Given the description of an element on the screen output the (x, y) to click on. 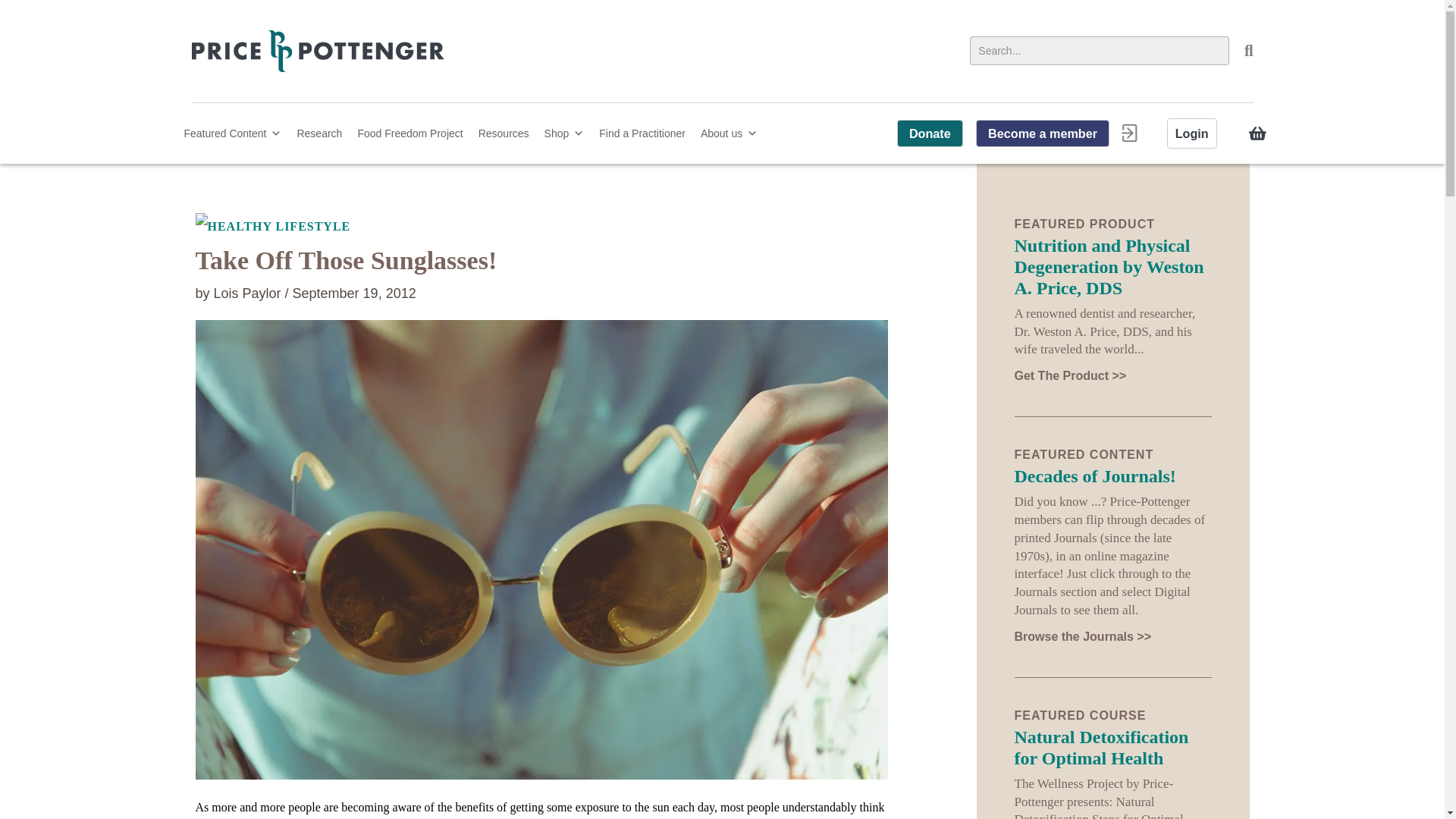
Research (318, 132)
Resources (503, 132)
About us (729, 132)
Login (1192, 132)
Featured Content (232, 132)
cartLogo (1257, 133)
HEALTHY LIFESTYLE (541, 226)
ppLogo (317, 51)
Become a member (1042, 133)
Food Freedom Project (409, 132)
